Given the description of an element on the screen output the (x, y) to click on. 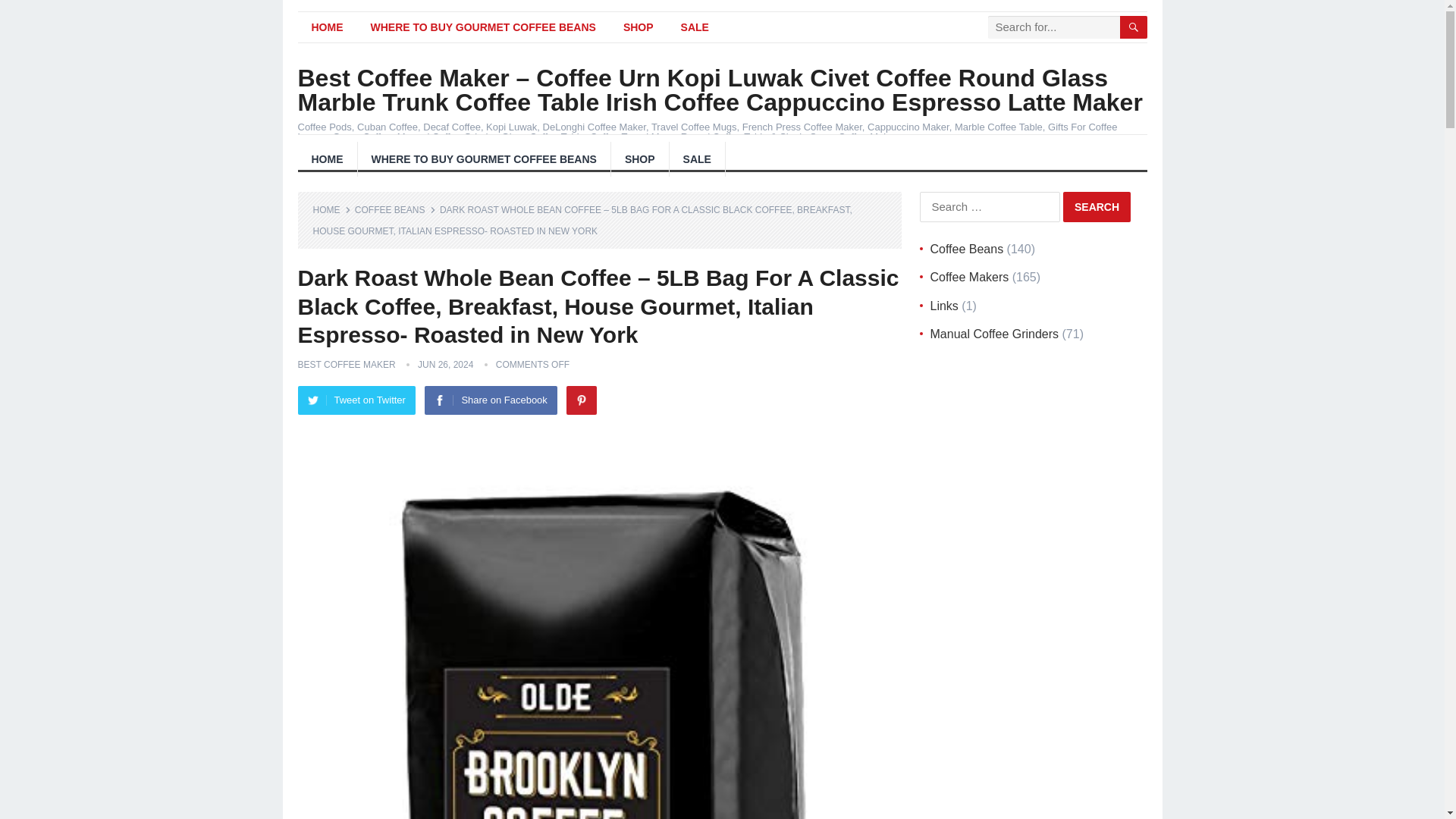
SALE (694, 27)
HOME (326, 158)
WHERE TO BUY GOURMET COFFEE BEANS (484, 158)
HOME (331, 209)
HOME (326, 27)
Pinterest (581, 399)
BEST COFFEE MAKER (345, 364)
View all posts in Coffee Beans (395, 209)
COFFEE BEANS (395, 209)
Search (1096, 206)
